Given the description of an element on the screen output the (x, y) to click on. 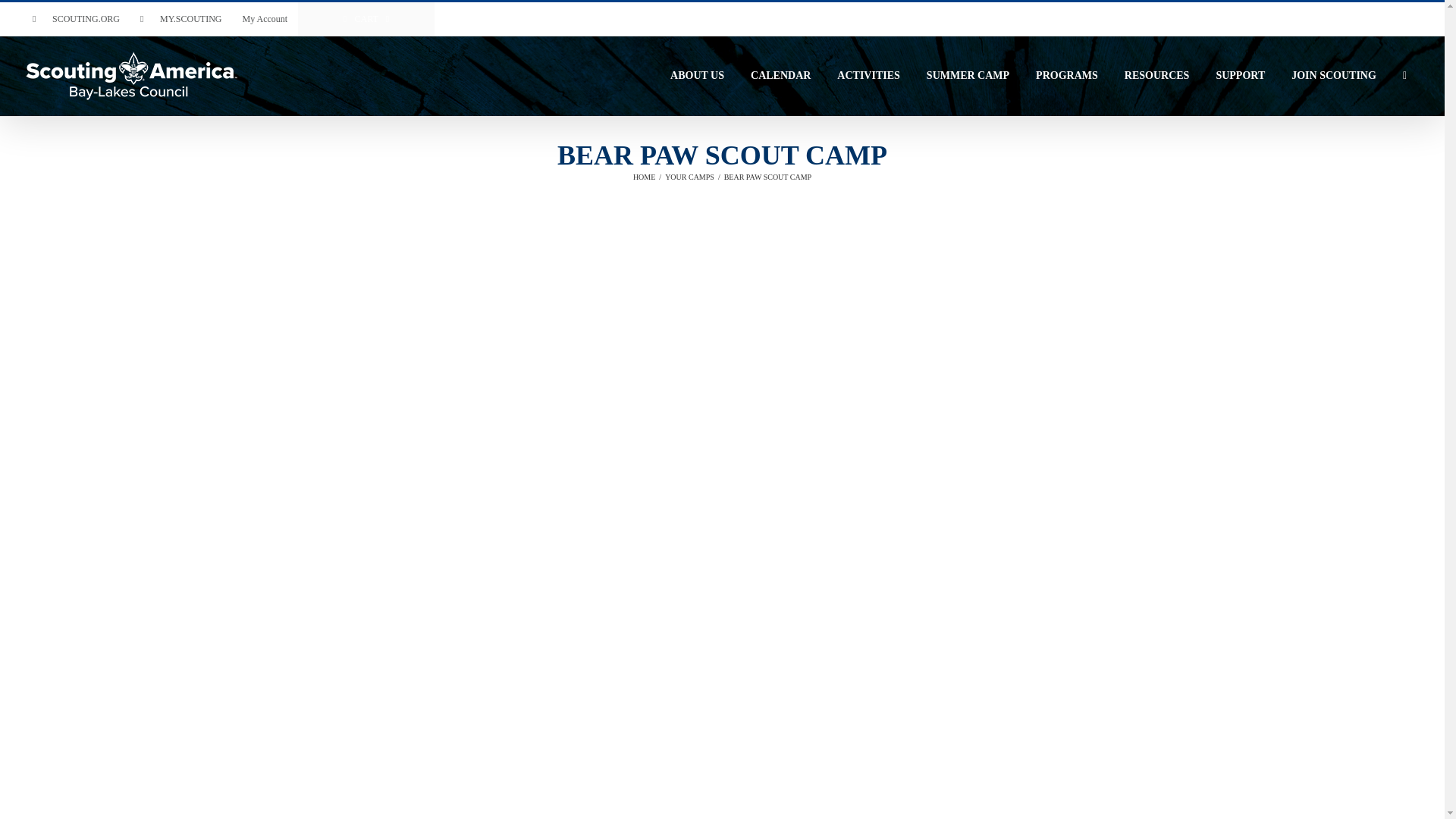
SCOUTING.ORG (76, 19)
MY.SCOUTING (181, 19)
My Account (264, 19)
CART (365, 19)
Log In (320, 146)
